Given the description of an element on the screen output the (x, y) to click on. 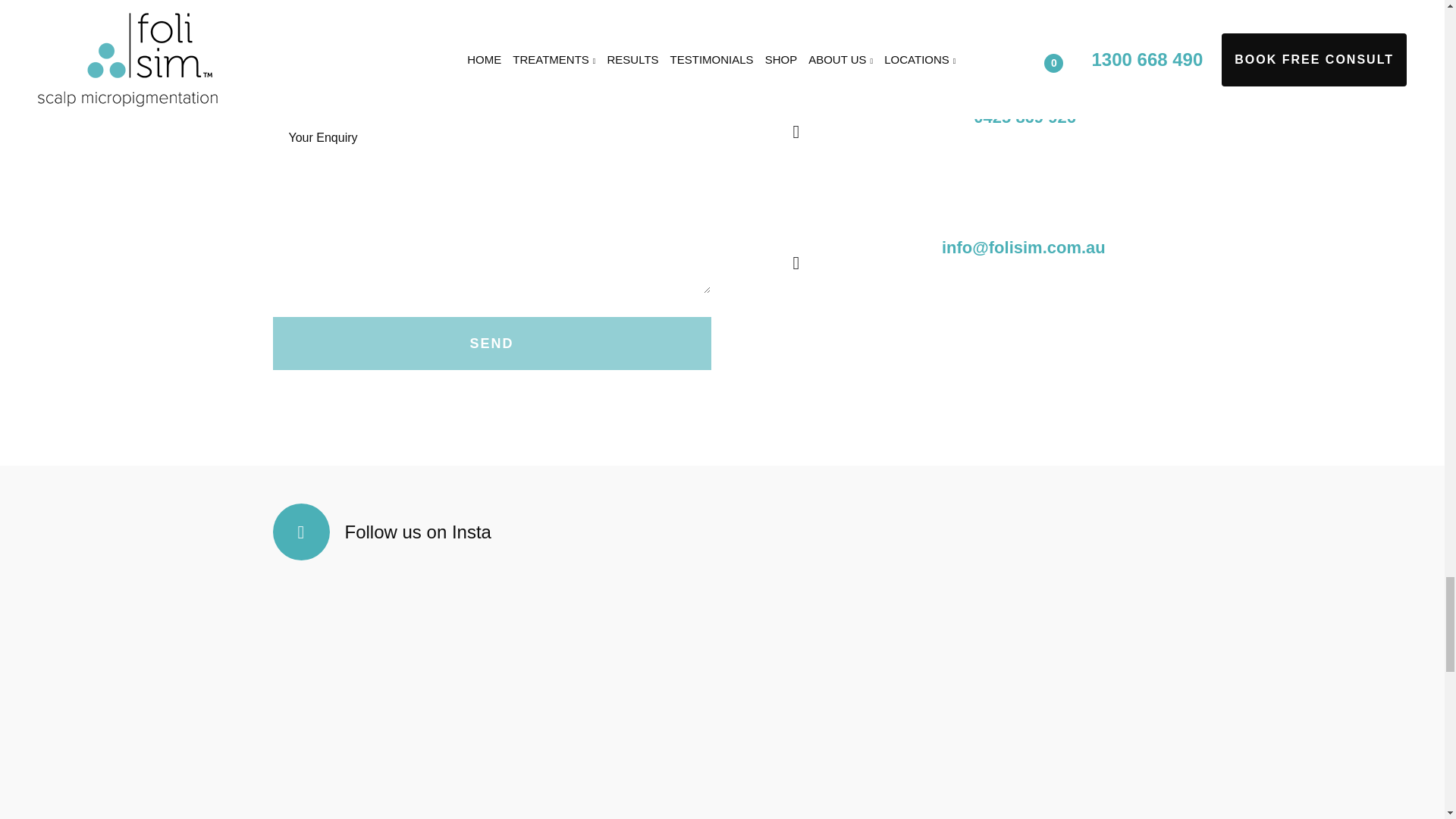
Send (492, 343)
